Given the description of an element on the screen output the (x, y) to click on. 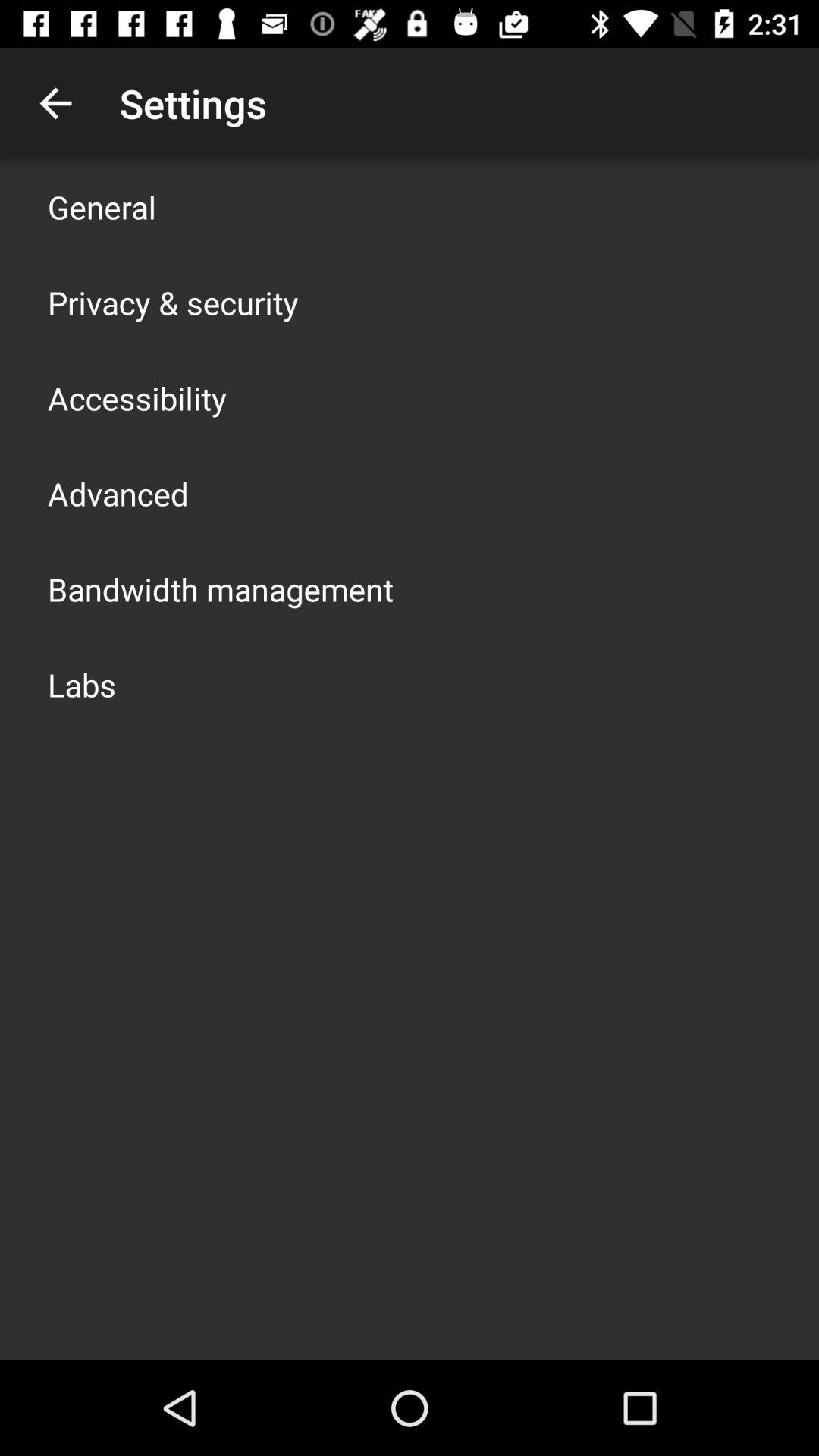
flip until privacy & security app (172, 302)
